Given the description of an element on the screen output the (x, y) to click on. 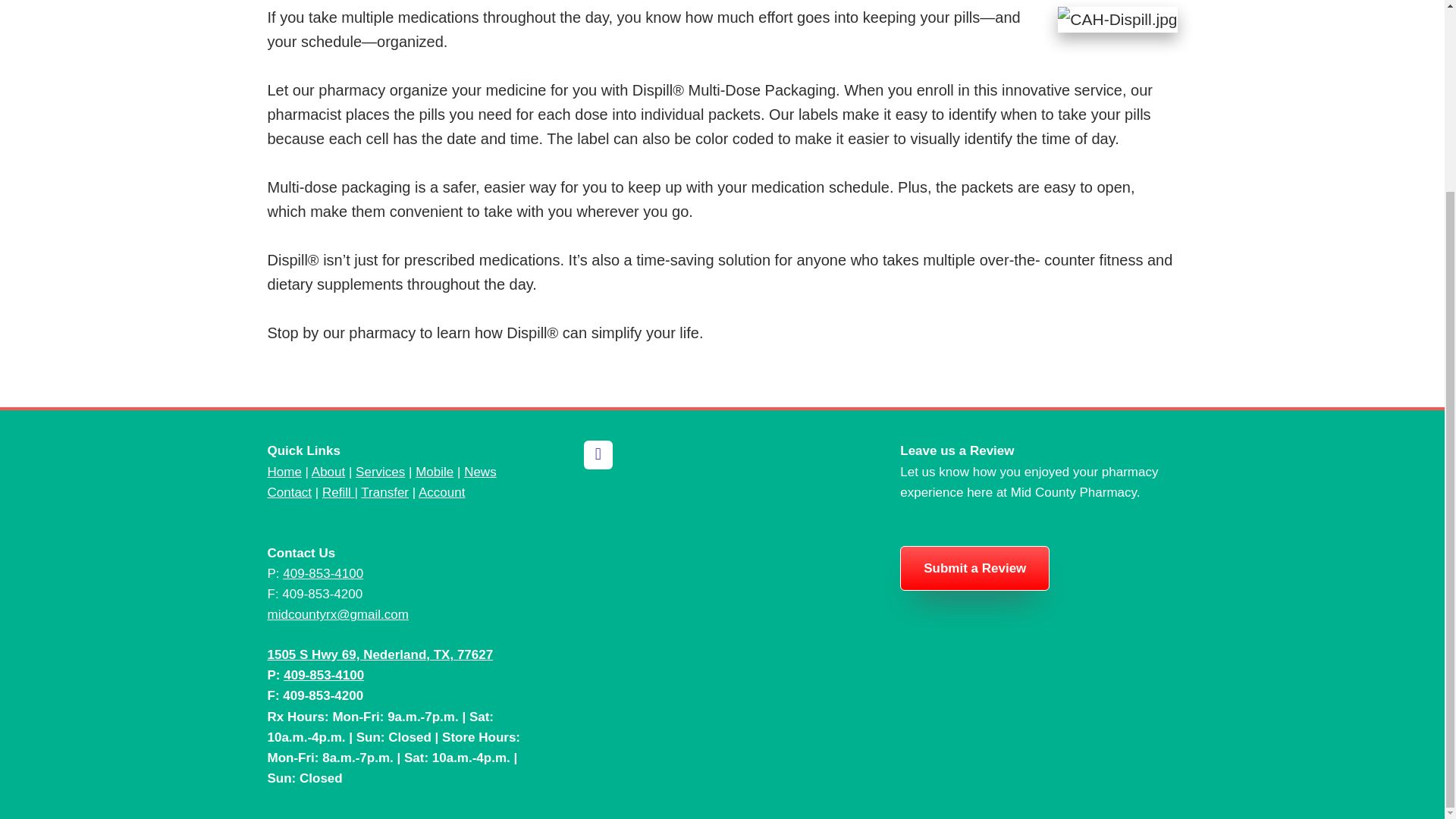
Contact (288, 492)
Home (283, 472)
Mobile (433, 472)
Account (441, 492)
Services (379, 472)
409-853-4100 (322, 573)
About (328, 472)
Refill (335, 492)
Transfer (385, 492)
News (480, 472)
